Given the description of an element on the screen output the (x, y) to click on. 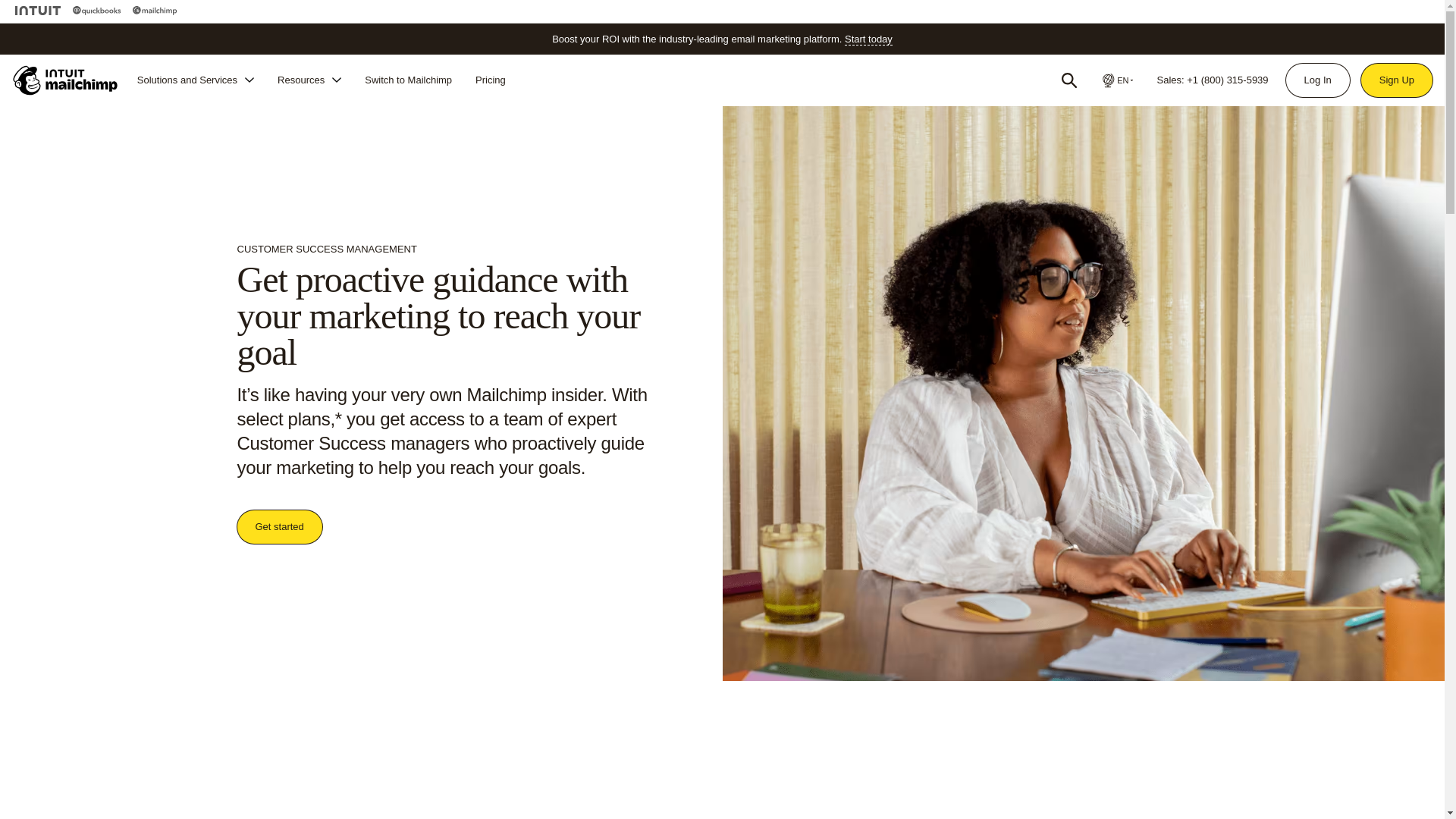
Switch to Mailchimp (408, 79)
Search (1069, 80)
Start today (868, 39)
Solutions and Services (195, 79)
Get started (278, 526)
Sign Up (1396, 80)
Pricing (490, 79)
Log In (1317, 80)
Resources (308, 79)
